Given the description of an element on the screen output the (x, y) to click on. 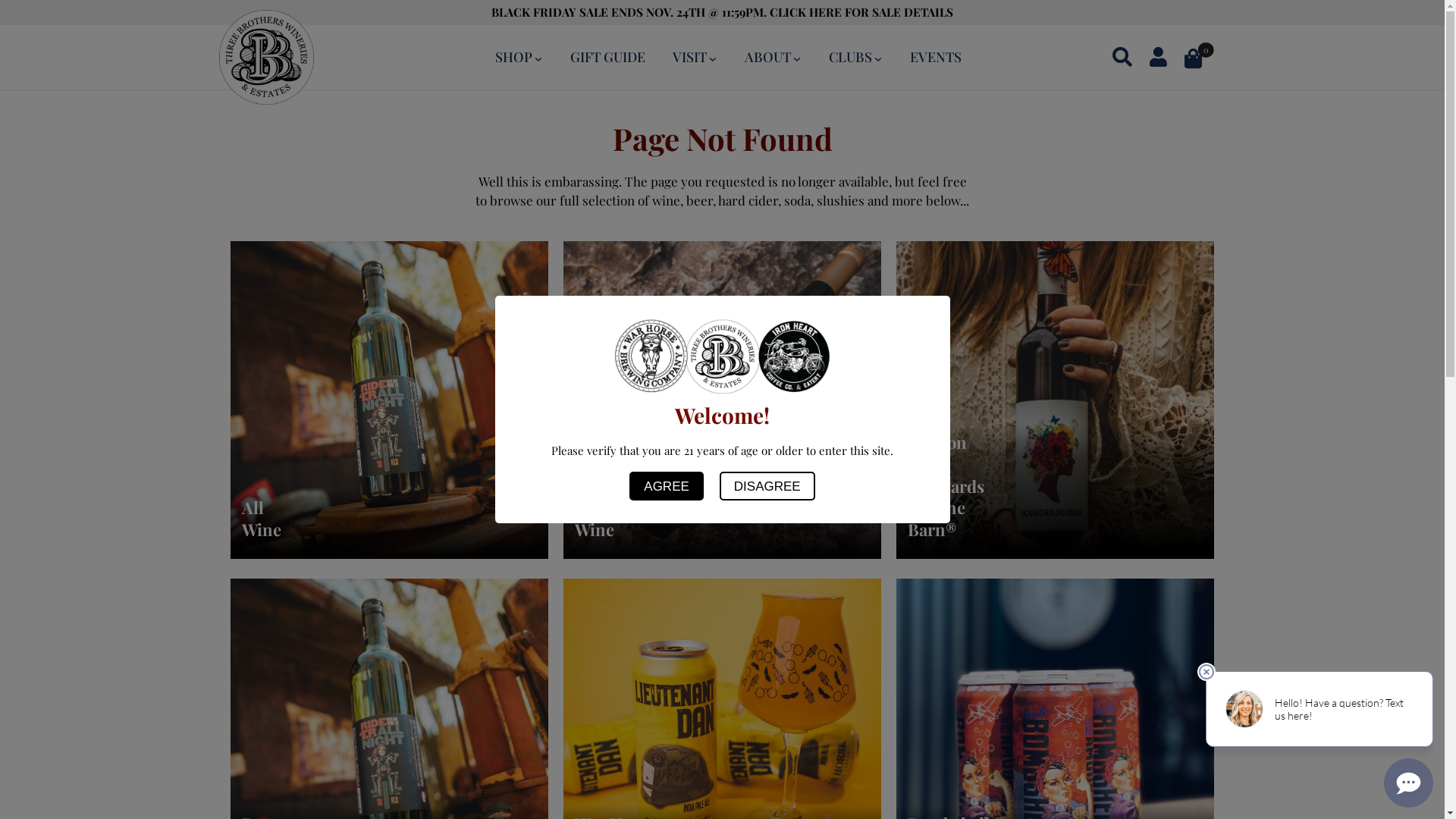
Bombshell Hard Cider Element type: text (1055, 736)
CLUBS Element type: text (855, 56)
All Wine Element type: text (389, 397)
SHOP Element type: text (518, 56)
GIFT GUIDE Element type: text (607, 56)
Three Brothers Wineries & Estates Element type: hover (721, 356)
EVENTS Element type: text (935, 56)
Bagg Dare Wine Element type: text (389, 736)
ABOUT Element type: text (773, 56)
AGREE Element type: text (666, 485)
Three Brothers Wineries & Estates Element type: hover (265, 54)
Stony Lonesome Wine Element type: text (722, 397)
0 Element type: text (1202, 56)
DISAGREE Element type: text (767, 485)
Sign In Element type: text (1092, 228)
VISIT Element type: text (694, 56)
